Given the description of an element on the screen output the (x, y) to click on. 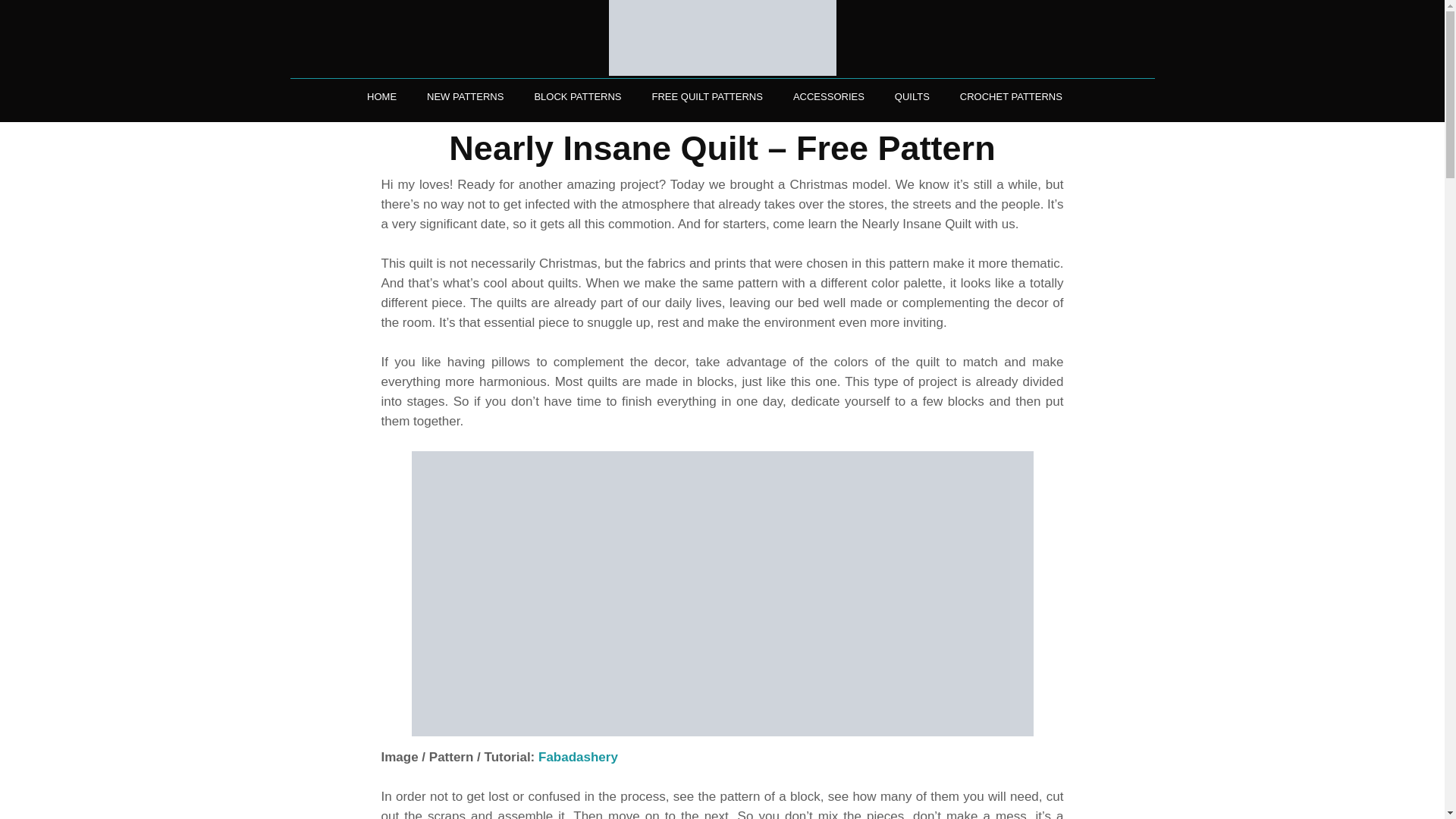
Fabadashery (577, 757)
NEW PATTERNS (465, 96)
FREE QUILT PATTERNS (707, 96)
HOME (381, 96)
ACCESSORIES (829, 96)
QUILTS (911, 96)
Homepage (721, 38)
CROCHET PATTERNS (1011, 96)
BLOCK PATTERNS (576, 96)
